Given the description of an element on the screen output the (x, y) to click on. 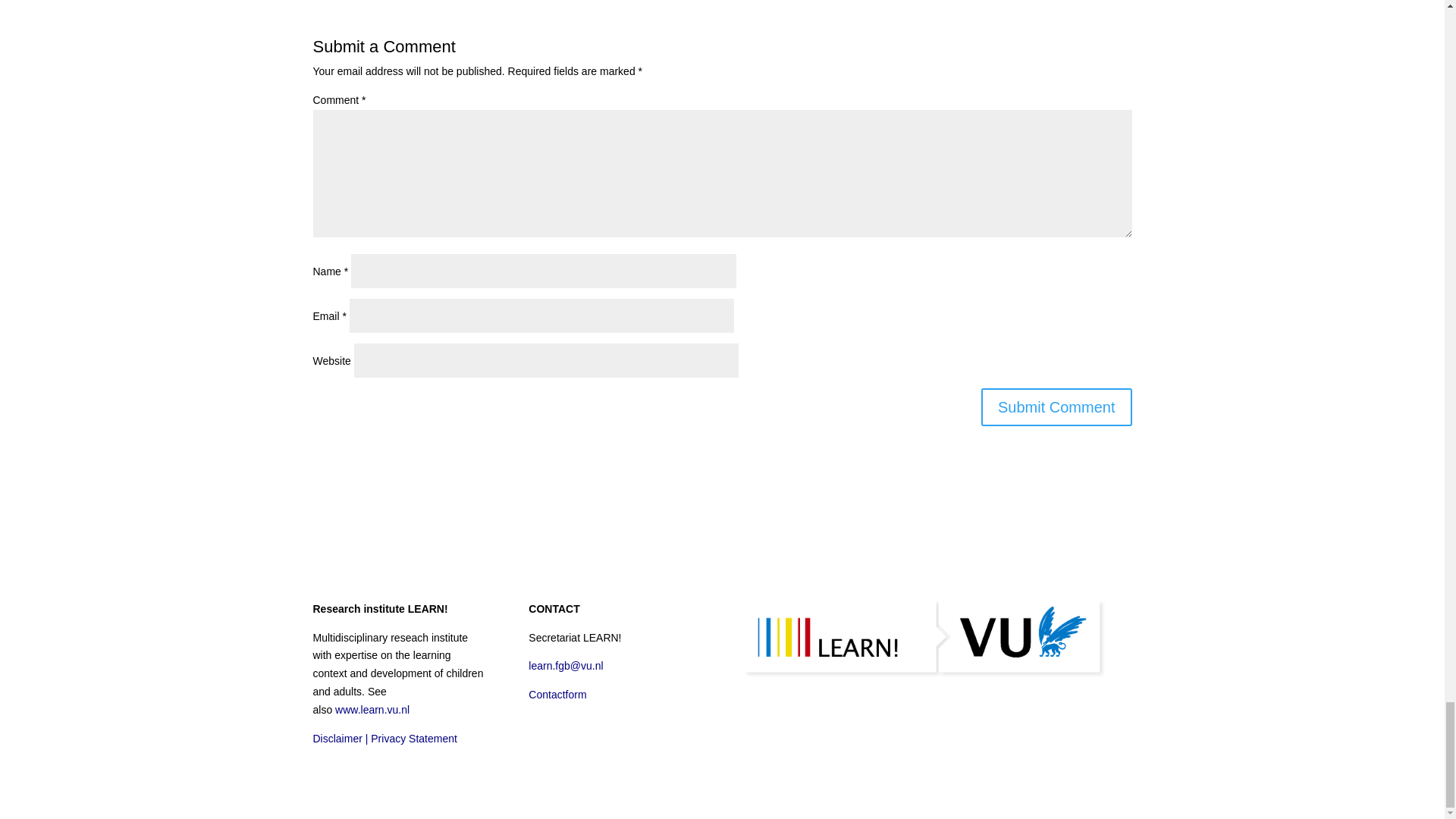
Submit Comment (1056, 406)
Follow on LinkedIn (540, 739)
Follow on Youtube (571, 739)
